Given the description of an element on the screen output the (x, y) to click on. 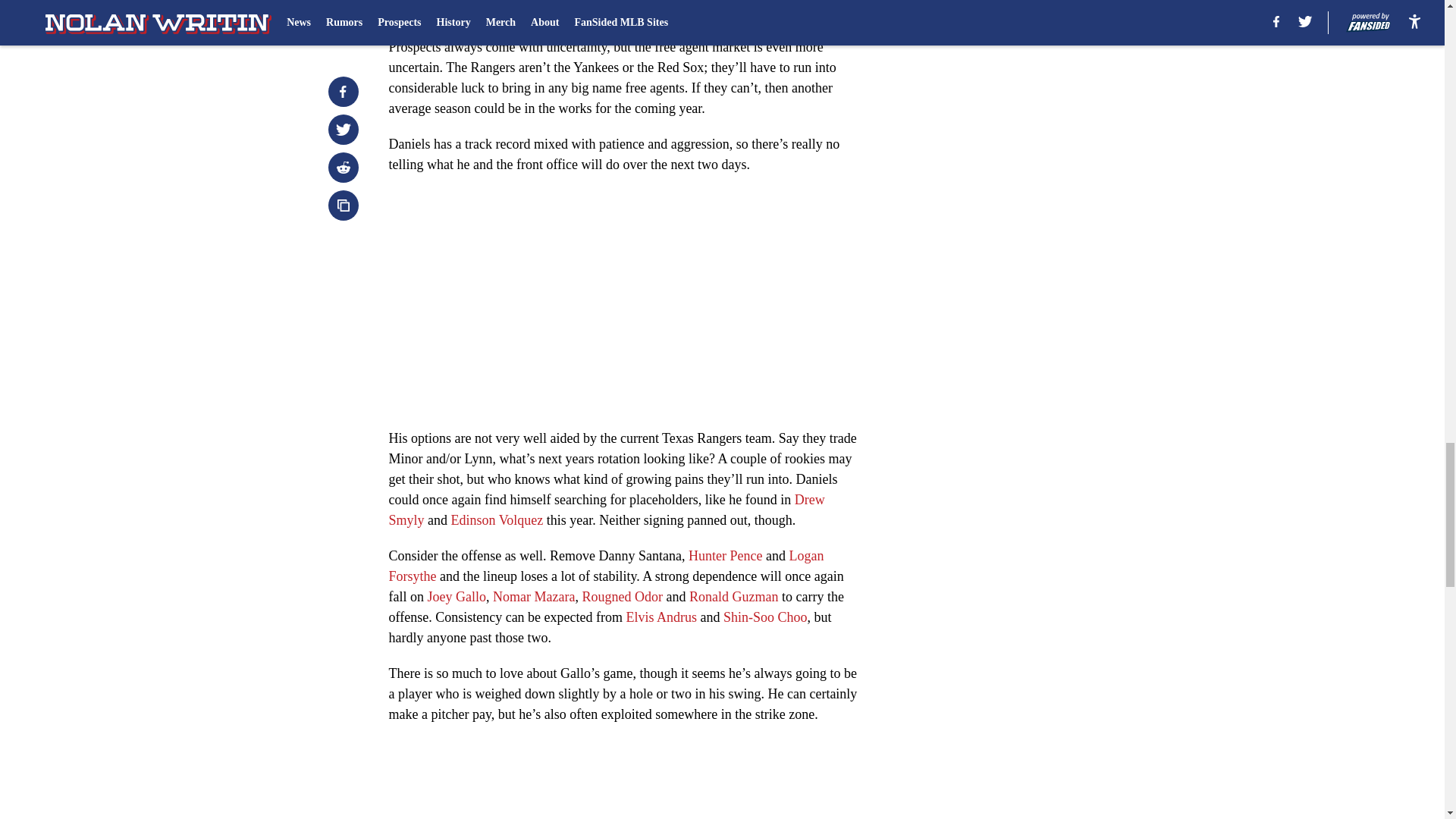
Elvis Andrus (661, 616)
Rougned Odor (621, 596)
Shin-Soo Choo (765, 616)
Nomar Mazara (534, 596)
Edinson Volquez (497, 519)
Ronald Guzman (732, 596)
Hunter Pence (724, 555)
Drew Smyly (606, 509)
Logan Forsythe (606, 565)
Joey Gallo (457, 596)
